Given the description of an element on the screen output the (x, y) to click on. 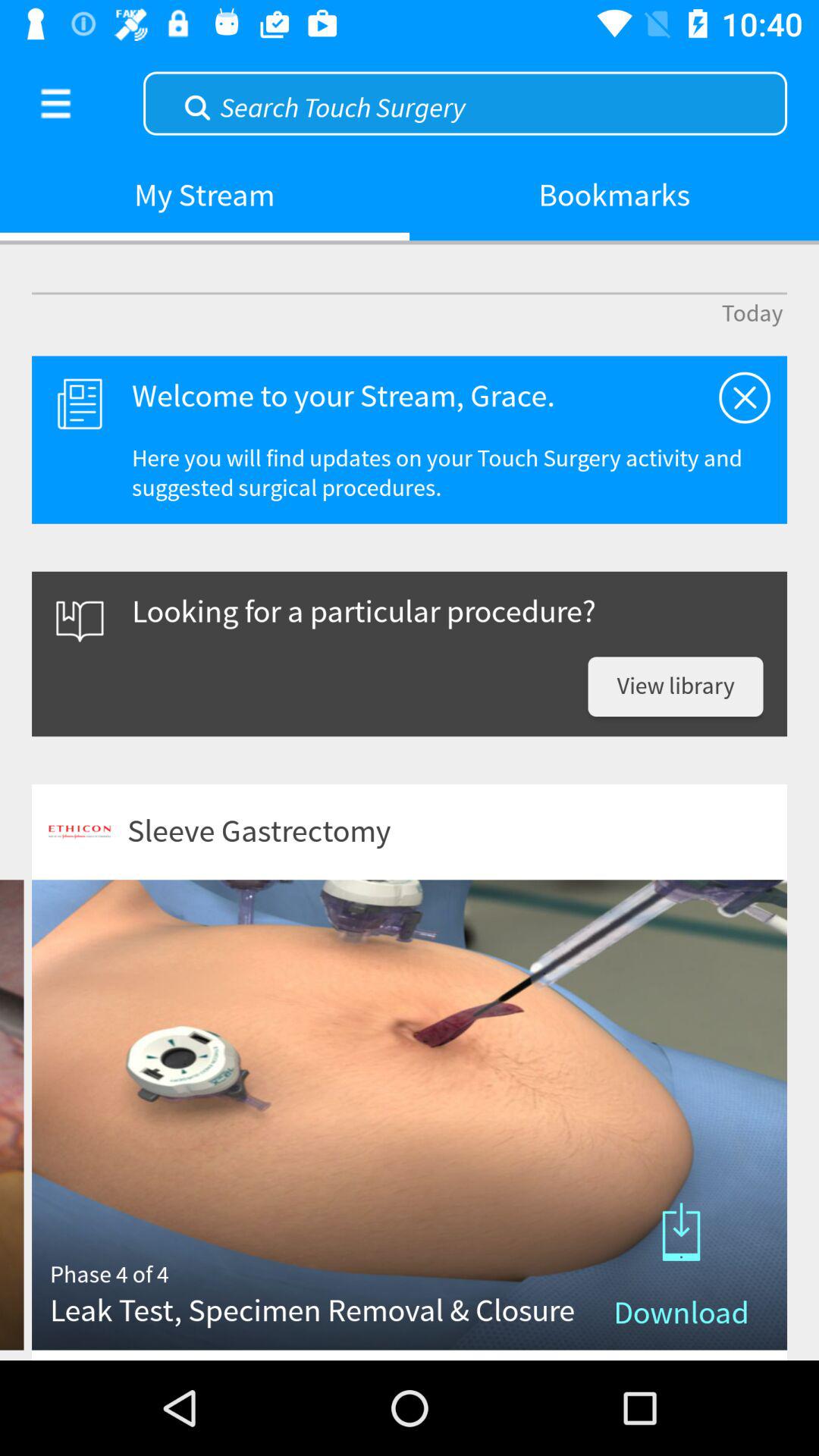
perform a search (465, 102)
